Given the description of an element on the screen output the (x, y) to click on. 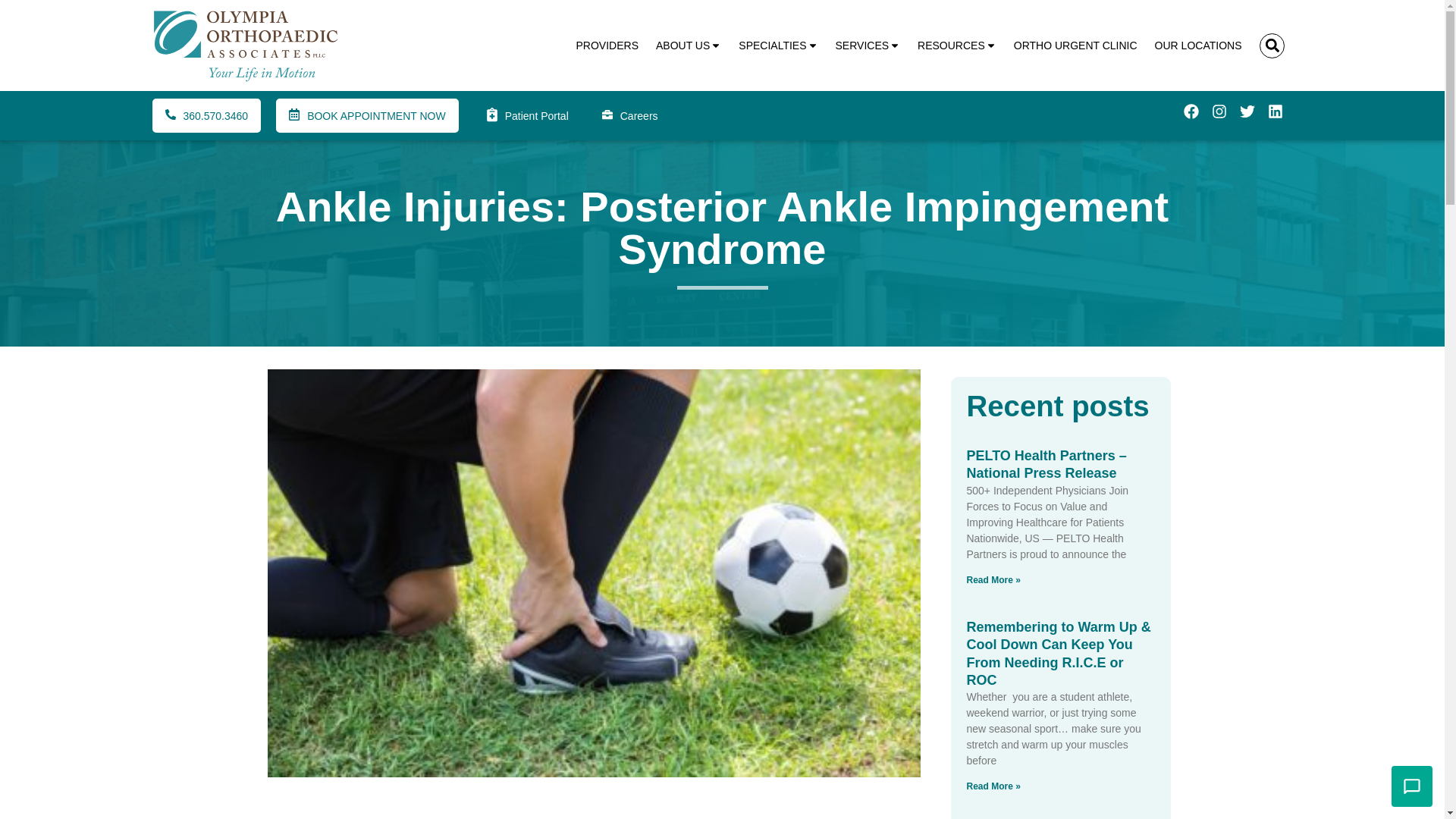
ORTHO URGENT CLINIC (1075, 45)
SPECIALTIES (778, 45)
OUR LOCATIONS (1197, 45)
SERVICES (868, 45)
ABOUT US (687, 45)
RESOURCES (956, 45)
PROVIDERS (607, 45)
